Given the description of an element on the screen output the (x, y) to click on. 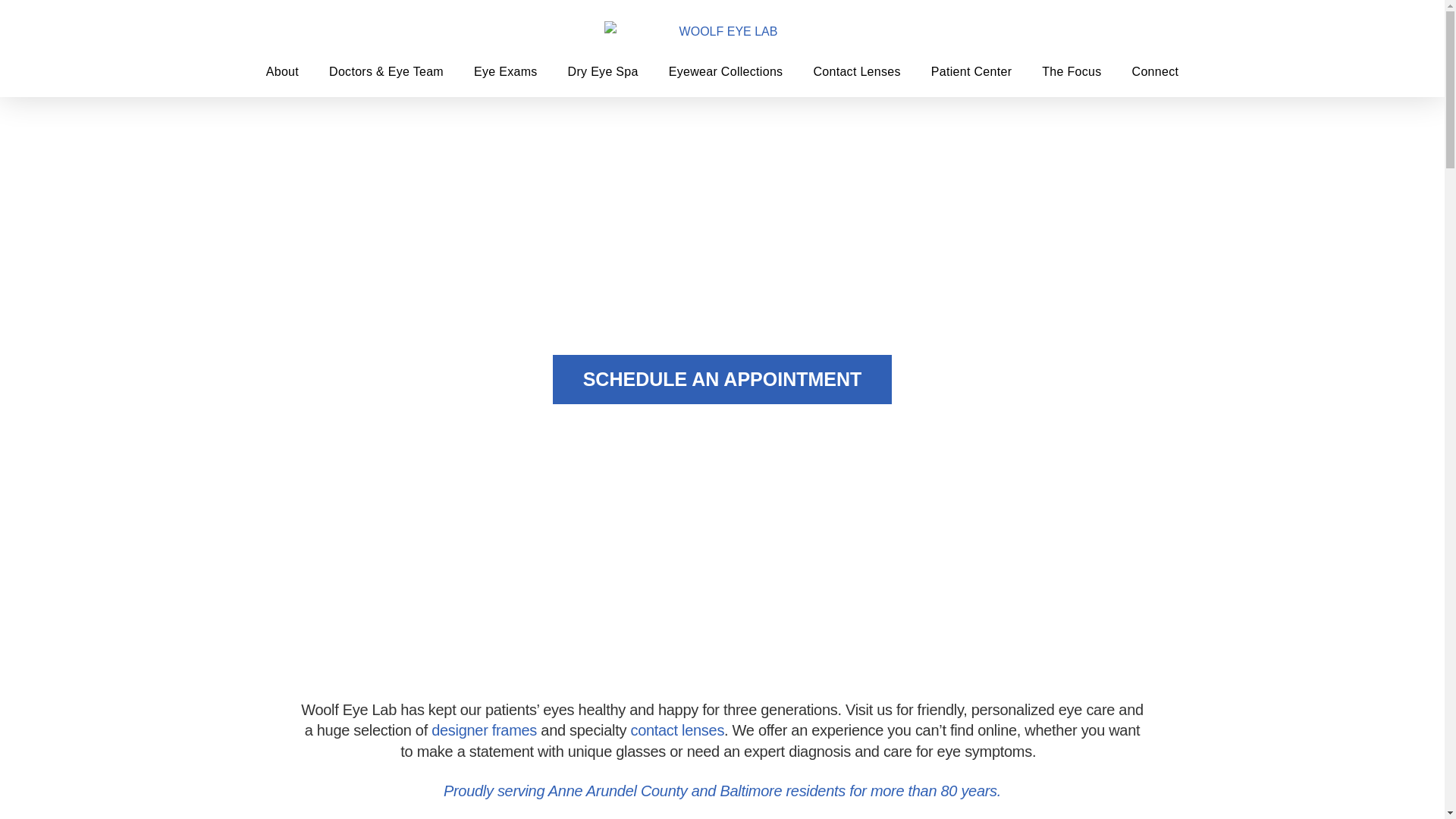
Connect (1154, 71)
About (282, 71)
Dry Eye Spa (603, 71)
Contact Lenses (856, 71)
contact lenses (676, 729)
Eyewear Collections (725, 71)
SCHEDULE AN APPOINTMENT (722, 379)
designer frames (483, 729)
Eye Exams (505, 71)
